Given the description of an element on the screen output the (x, y) to click on. 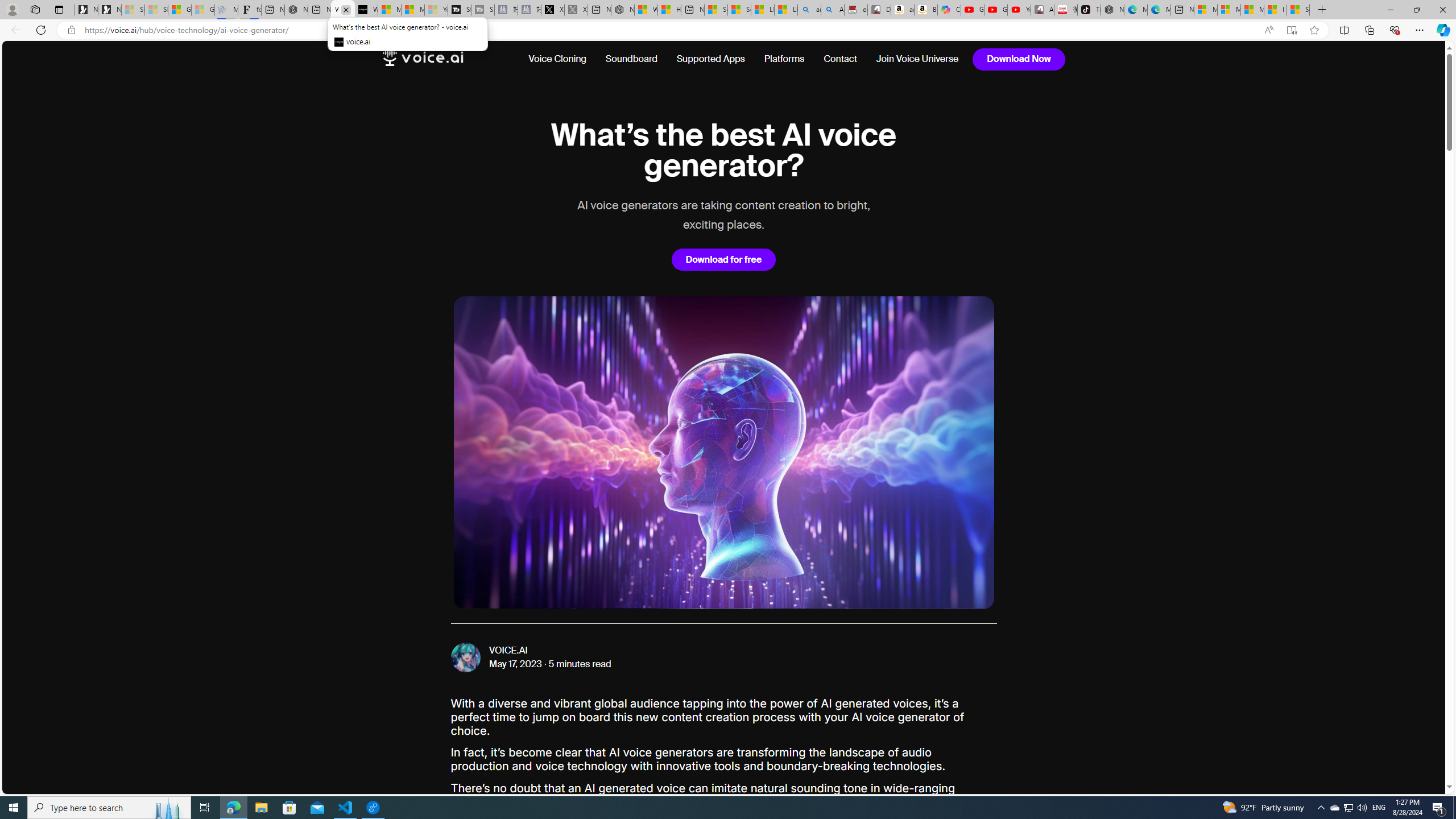
Platforms (783, 59)
Join Voice Universe (912, 59)
Voice Cloning (557, 59)
May 17, 2023 (516, 663)
Soundboard (630, 59)
